Given the description of an element on the screen output the (x, y) to click on. 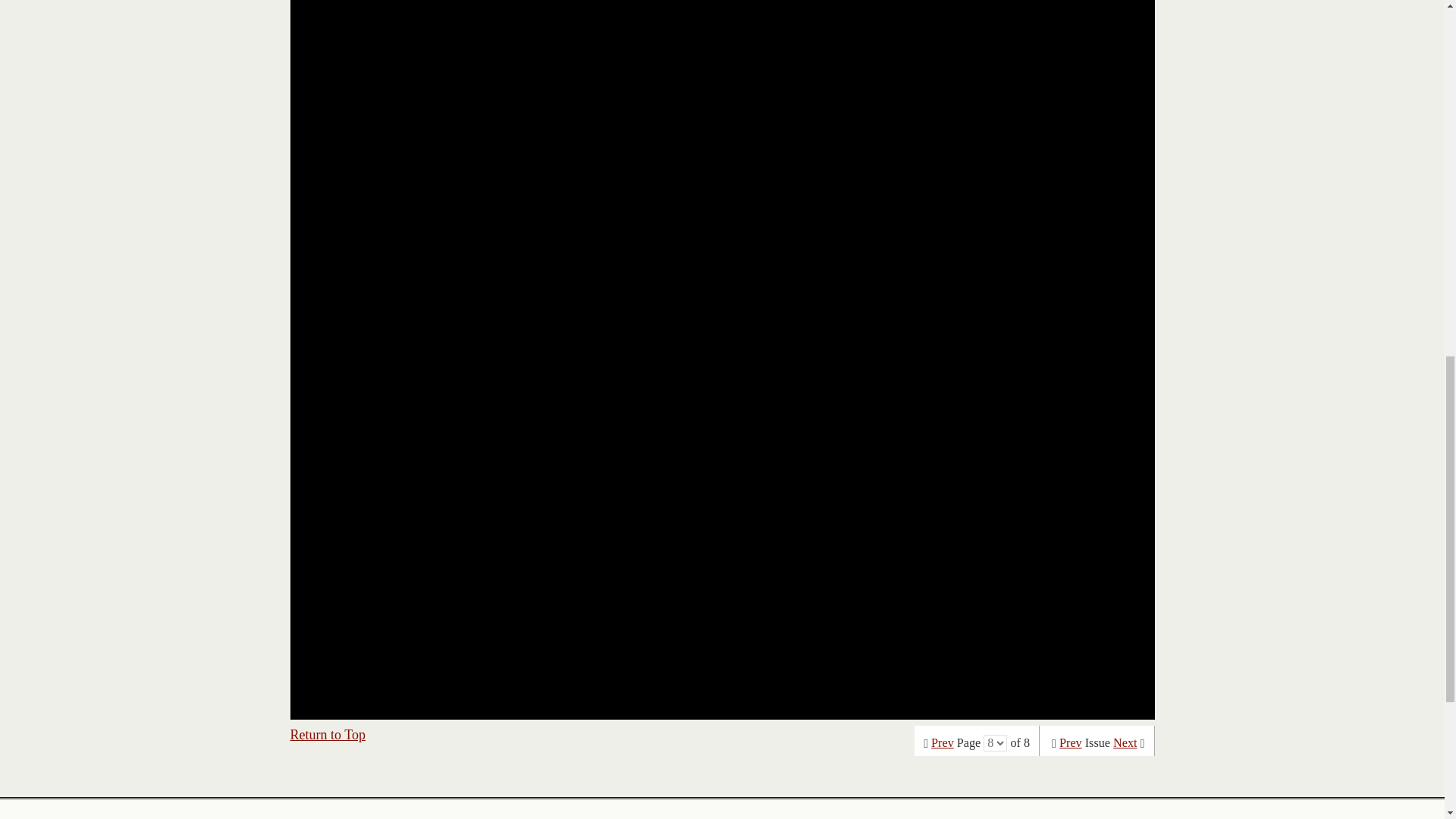
Return to Top (327, 734)
Prev (1070, 743)
Next (1125, 743)
Prev (942, 743)
